Given the description of an element on the screen output the (x, y) to click on. 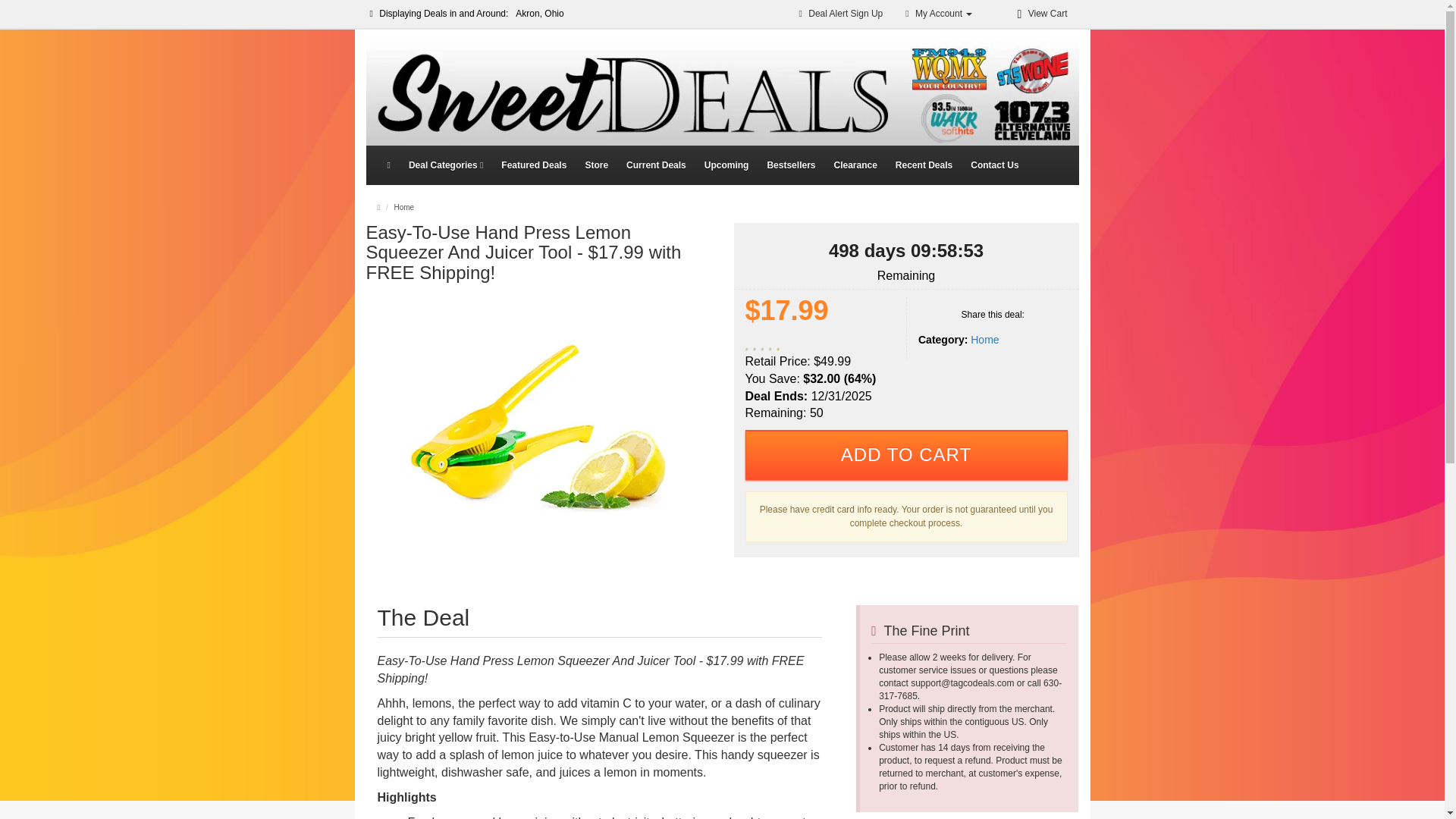
Store (596, 165)
ADD TO CART (905, 454)
Deal Categories (445, 165)
Current Deals (656, 165)
Contact Us (993, 165)
Clearance (854, 165)
Home (762, 344)
Bestsellers (984, 339)
Deal Alert Sign Up (790, 165)
